Given the description of an element on the screen output the (x, y) to click on. 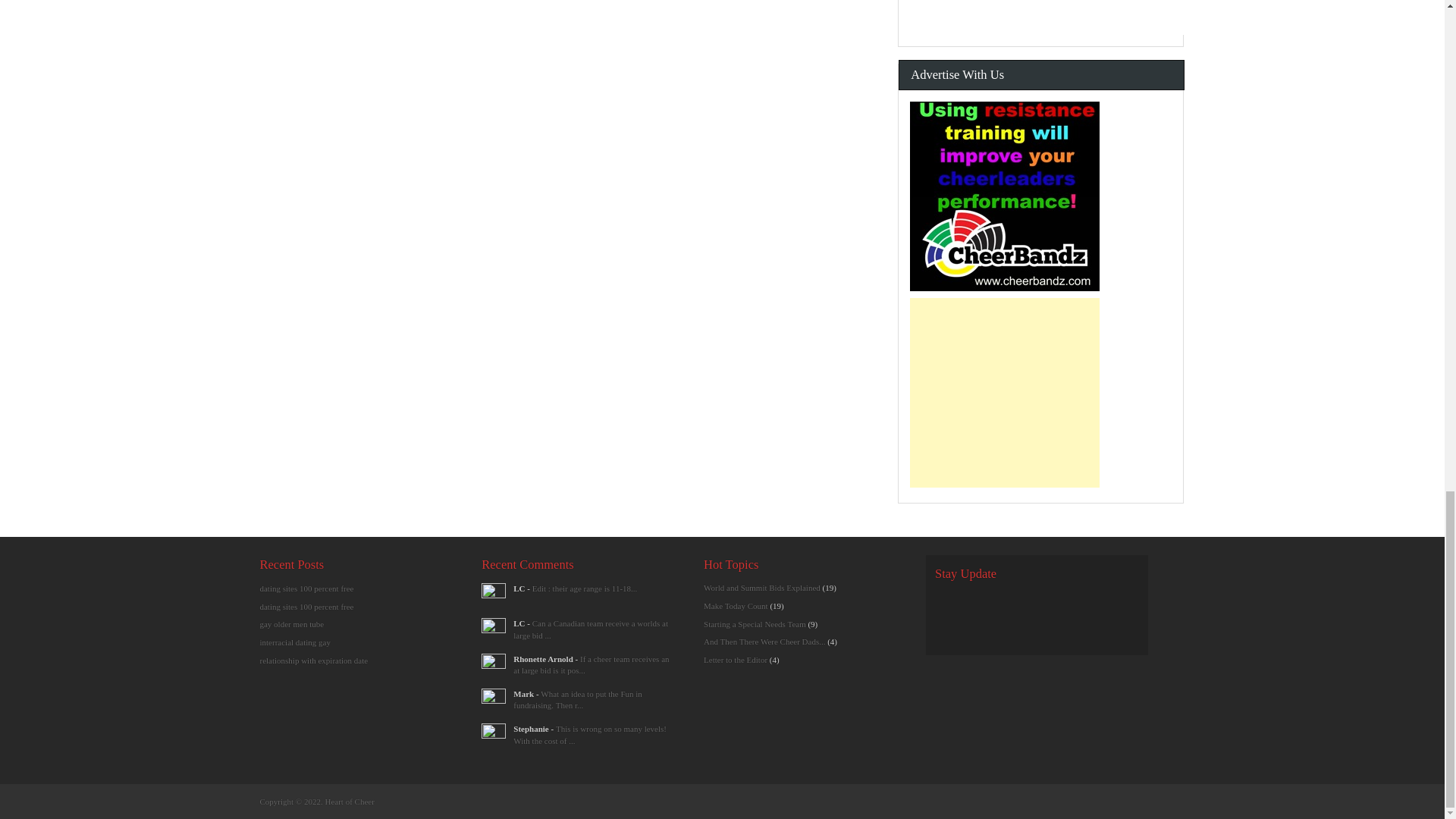
This is wrong on so many levels! With the cost of ... (589, 733)
dating sites 100 percent free (306, 605)
Follow us on Twitter (1016, 605)
Like us on Facebook (983, 605)
 World and Summit Bids Explained (590, 664)
gay older men tube (291, 623)
Subscribe to rss feed (951, 605)
 World and Summit Bids Explained (590, 629)
 World and Summit Bids Explained (584, 587)
Can a Canadian team receive a worlds at large bid ... (590, 629)
